Given the description of an element on the screen output the (x, y) to click on. 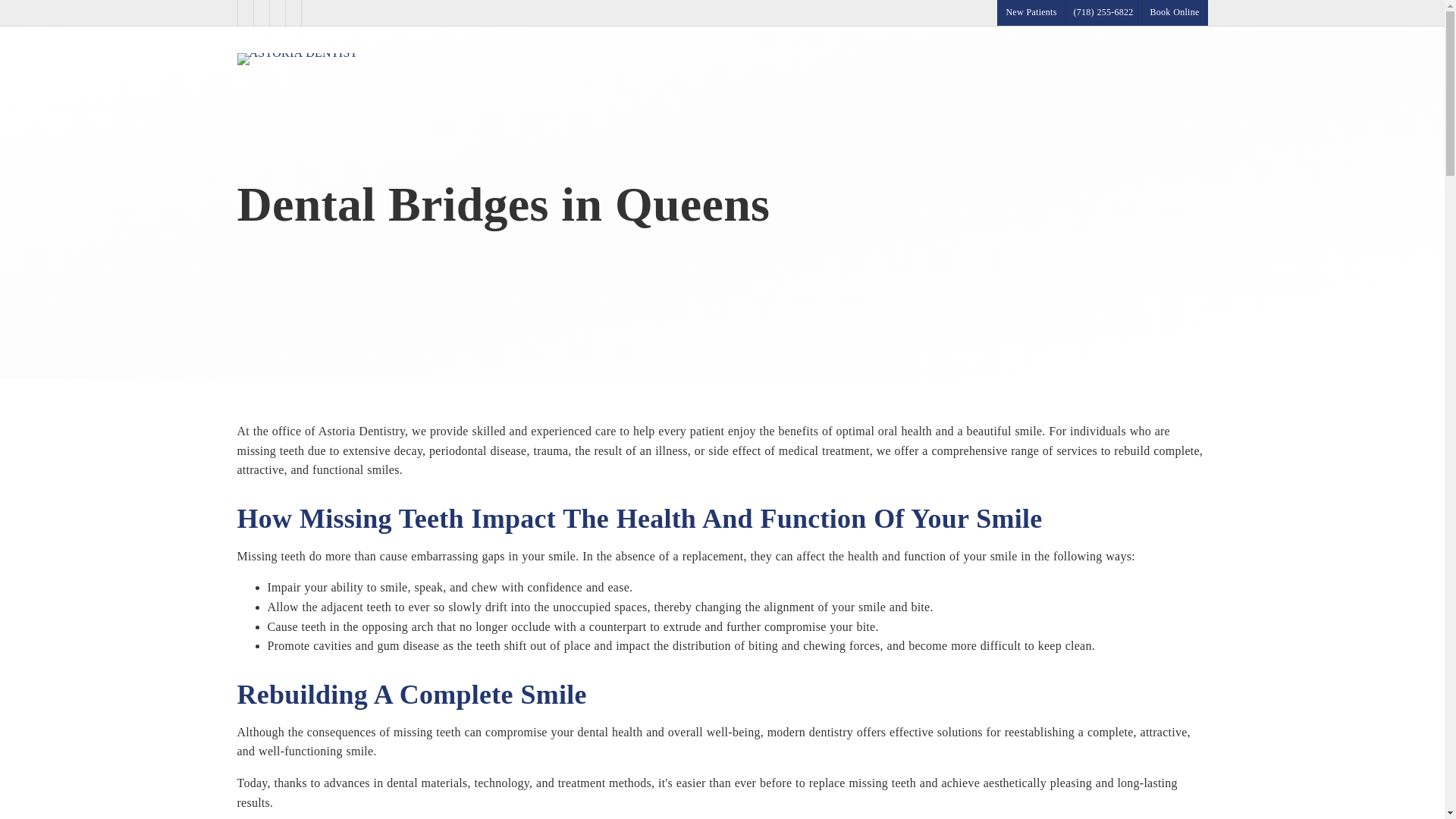
Book Online (1174, 12)
New Patients (1030, 12)
